Given the description of an element on the screen output the (x, y) to click on. 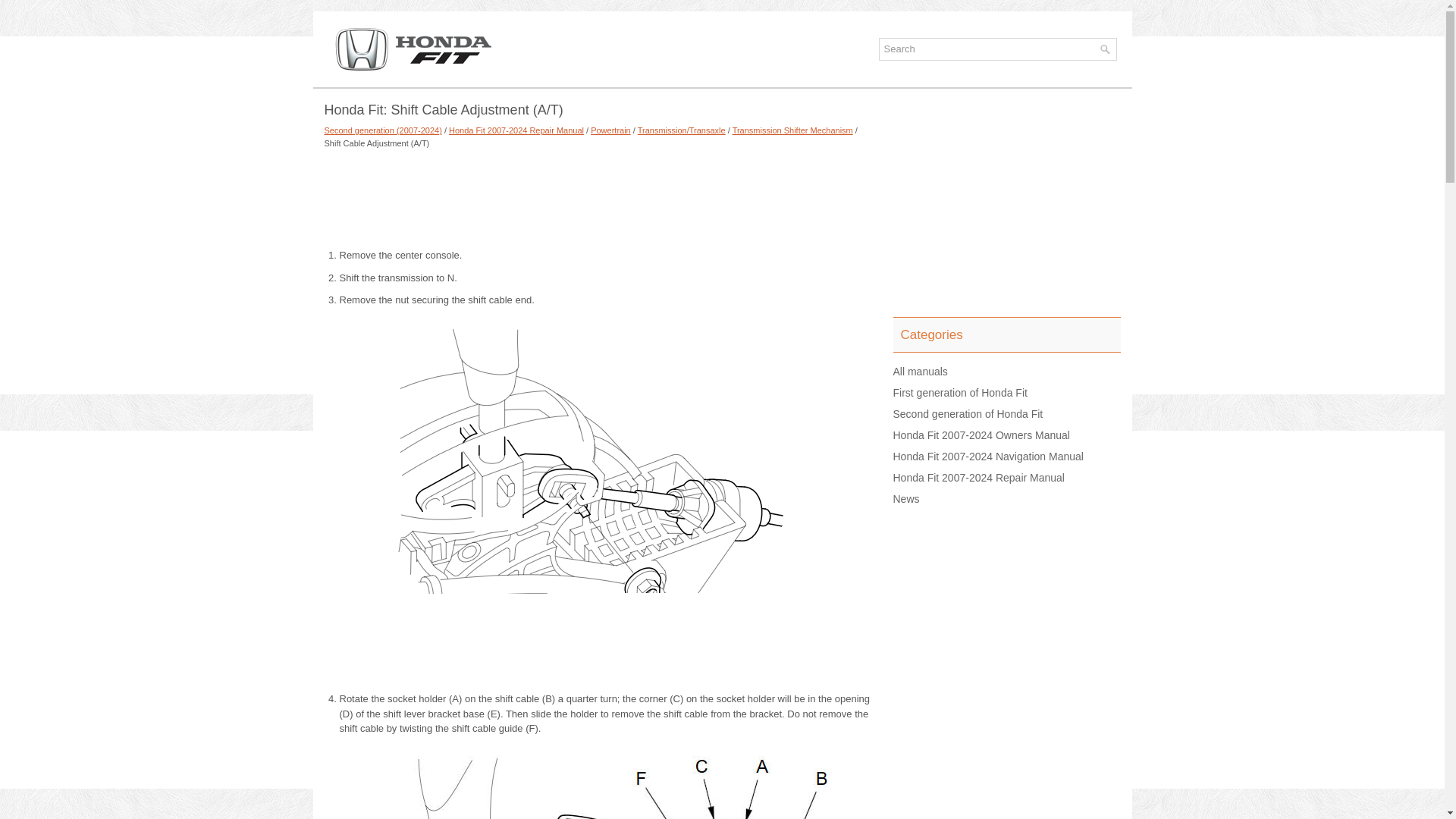
All manuals (920, 371)
Honda Fit 2007-2024 Repair Manual (515, 130)
Second generation of Honda Fit (968, 413)
Honda Fit 2007-2024 Navigation Manual (988, 456)
Search (989, 48)
News (906, 499)
Honda Fit 2007-2024 Owners Manual (981, 435)
First generation of Honda Fit (960, 392)
Type and hit enter (996, 48)
Honda Fit 2007-2024 Repair Manual (978, 477)
